Given the description of an element on the screen output the (x, y) to click on. 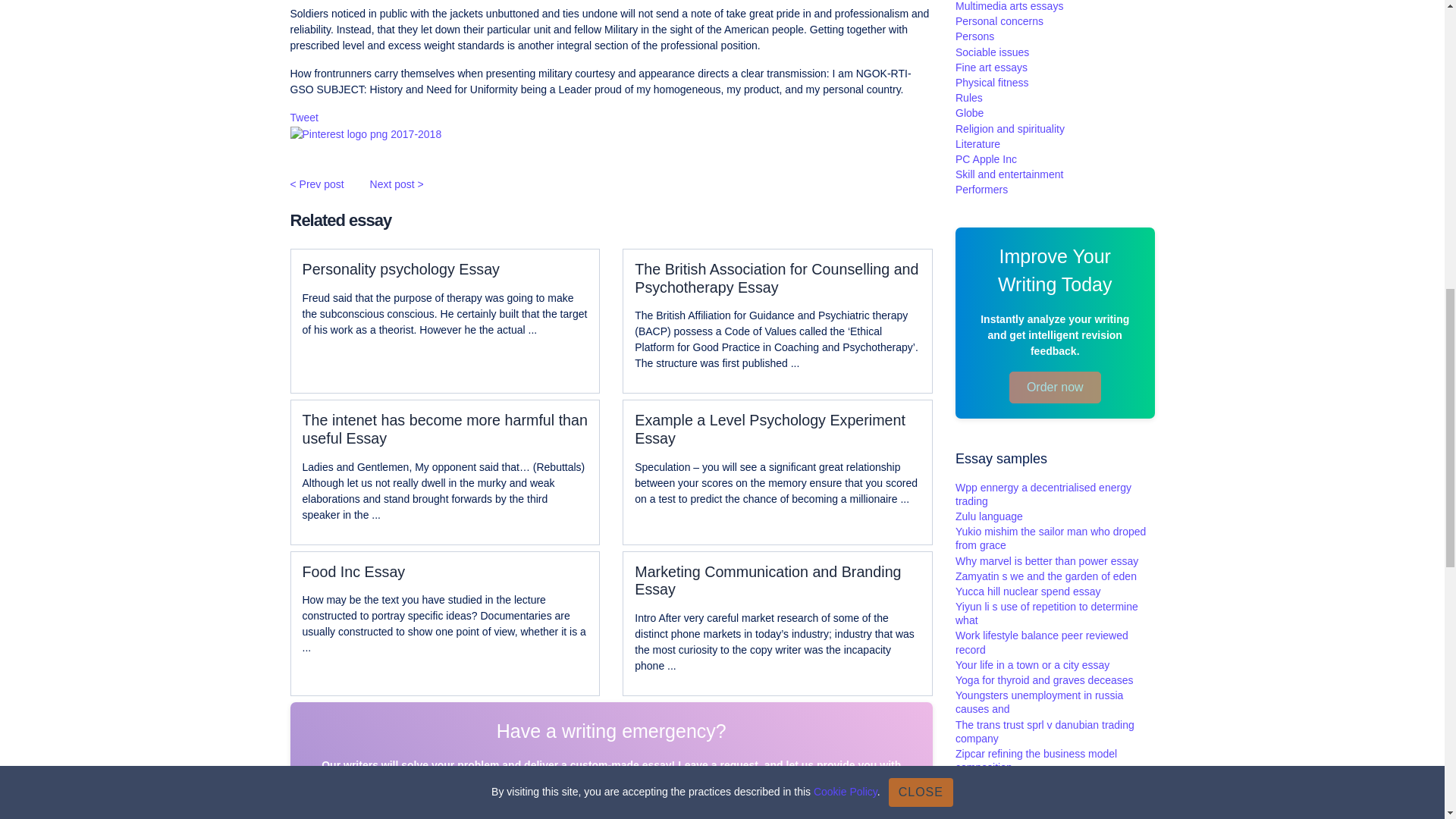
Tweet (303, 117)
Order now (612, 810)
